Given the description of an element on the screen output the (x, y) to click on. 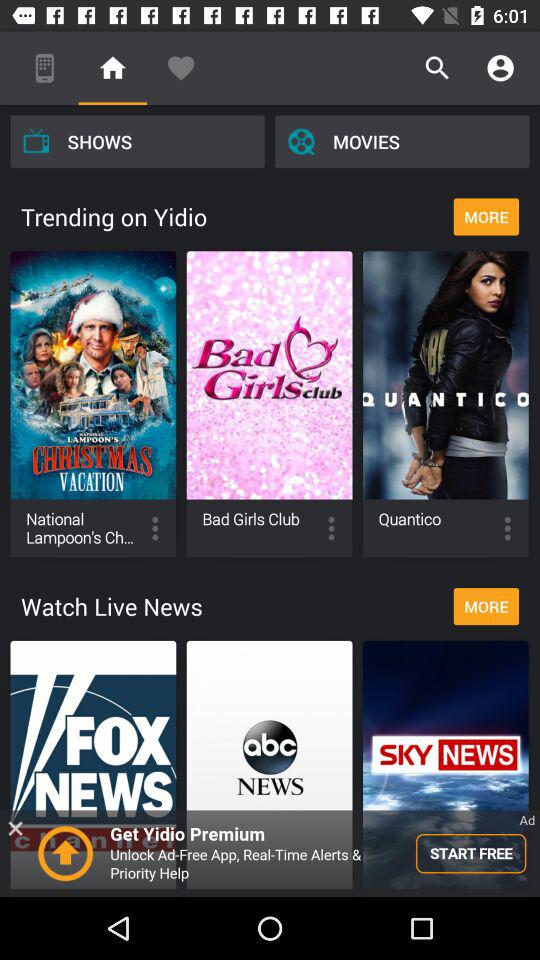
select shows item (137, 141)
